Given the description of an element on the screen output the (x, y) to click on. 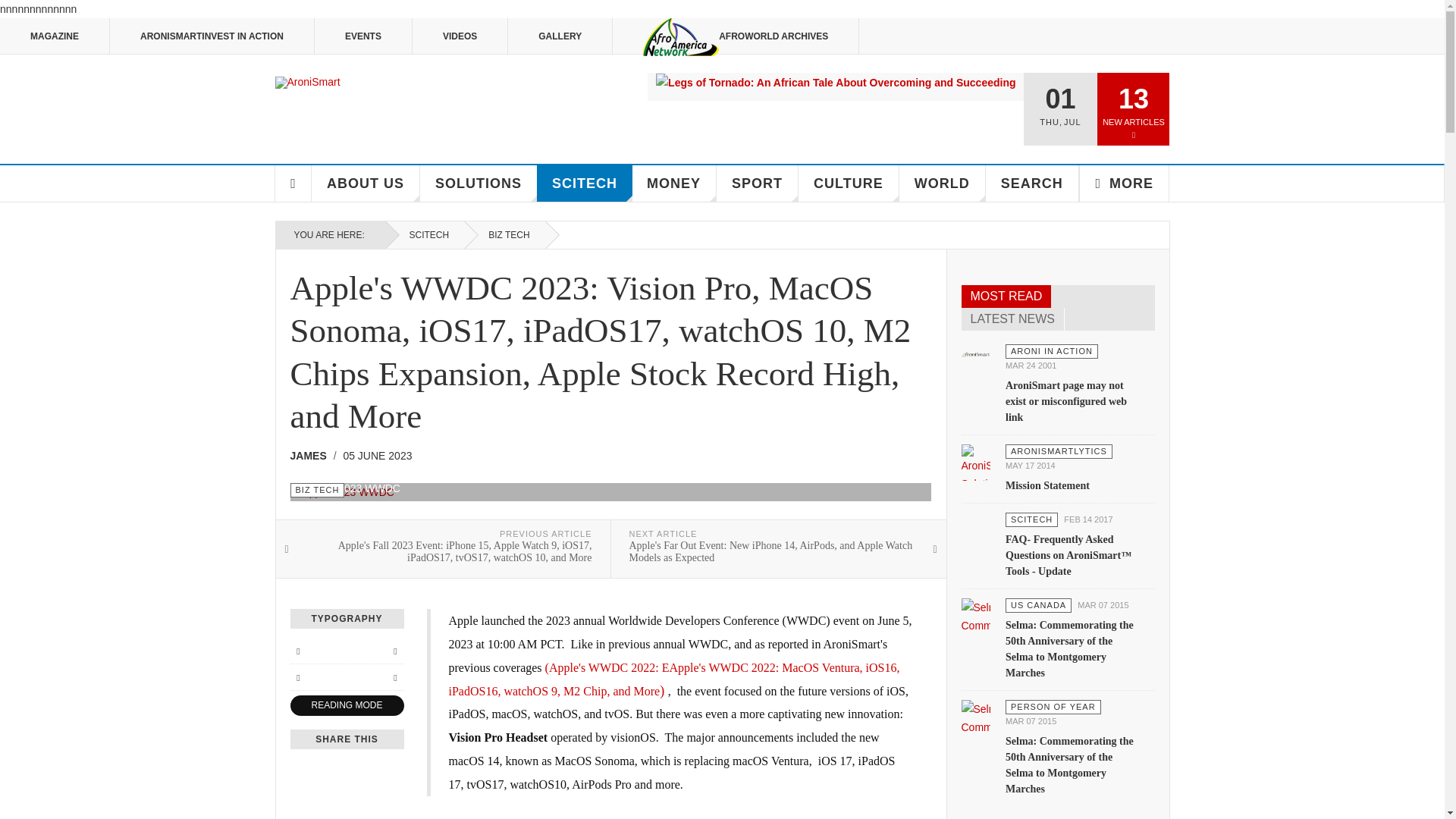
MAGAZINE (55, 36)
Header Legs of Tornado Banner (835, 81)
AroniSmart (307, 82)
ARONISMARTINVEST IN ACTION (212, 36)
GALLERY (560, 36)
AFROWORLD ARCHIVES (735, 36)
EVENTS (363, 36)
VIDEOS (460, 36)
HOME (293, 183)
ABOUT US (365, 183)
